Given the description of an element on the screen output the (x, y) to click on. 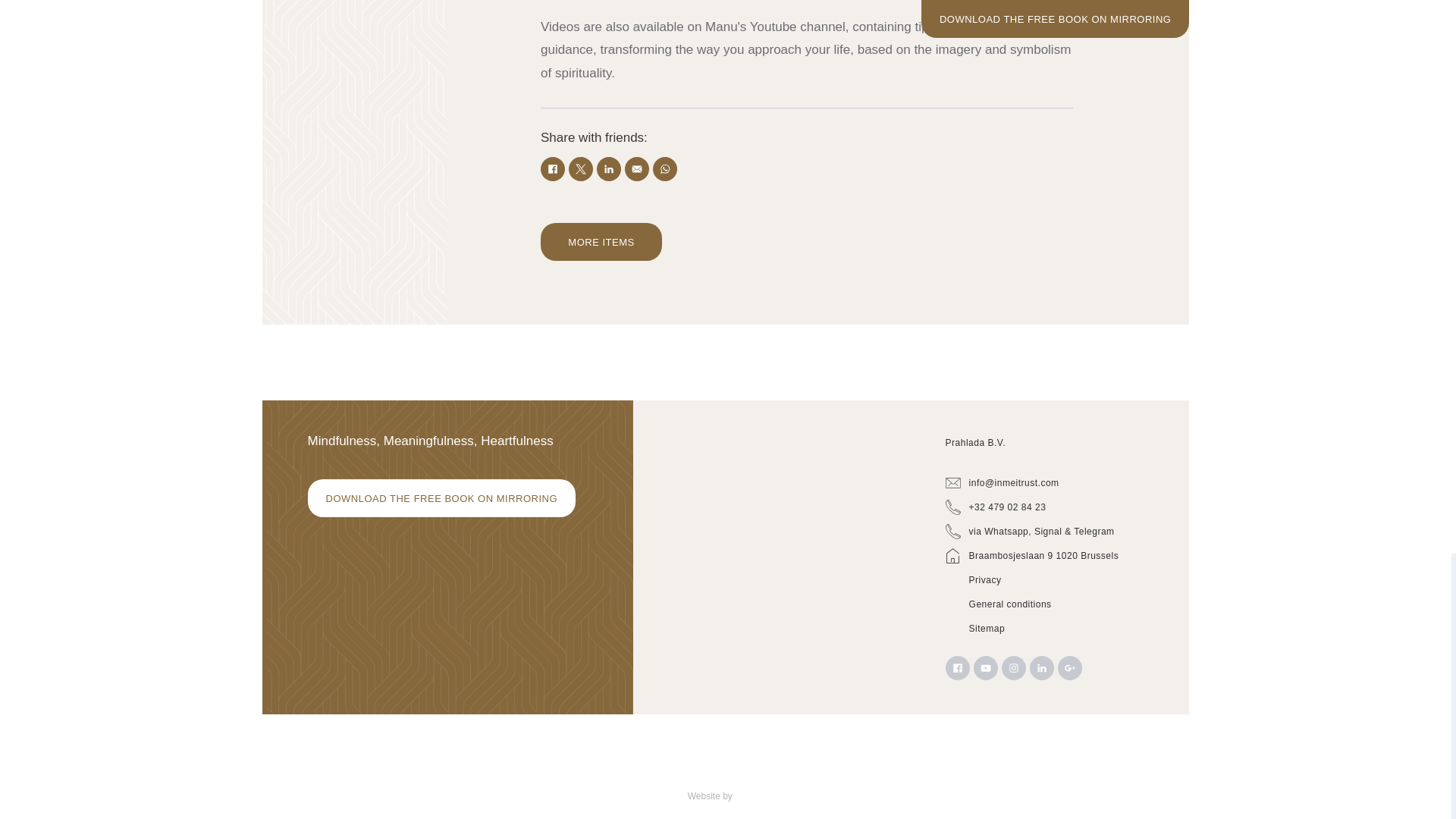
Share via mail (636, 168)
Braambosjeslaan 9 1020 Brussels (1050, 555)
Share via linkedin (608, 168)
Share via facebook (552, 168)
Website by (709, 796)
Share via X (580, 168)
MORE ITEMS (601, 241)
Mirrorology, looking at the other to peer into oneself (601, 241)
General conditions (1050, 604)
Privacy (1050, 580)
